Given the description of an element on the screen output the (x, y) to click on. 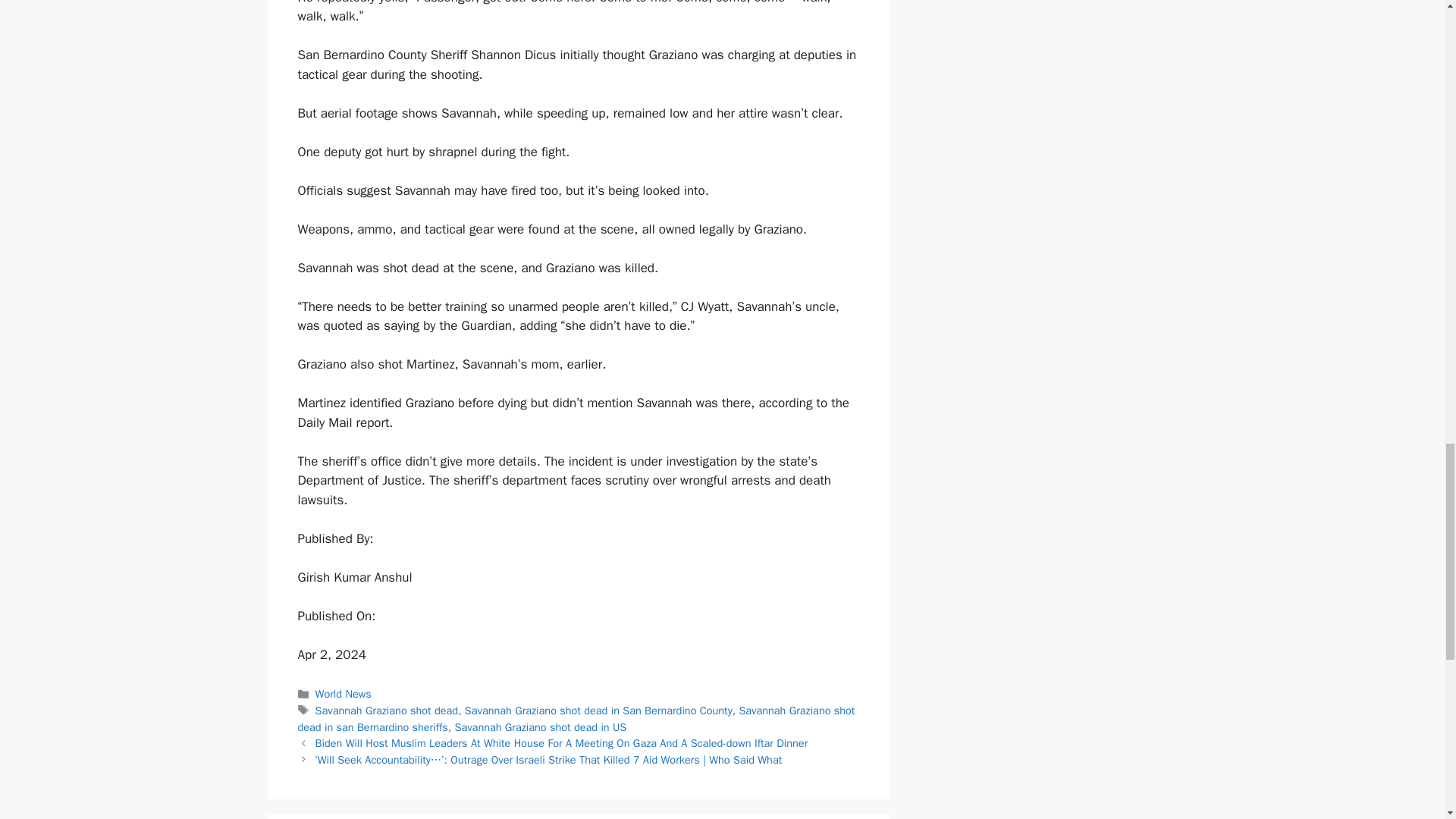
World News (343, 694)
Savannah Graziano shot dead in US (540, 726)
Savannah Graziano shot dead in San Bernardino County (598, 710)
Savannah Graziano shot dead (386, 710)
Savannah Graziano shot dead in san Bernardino sheriffs (575, 718)
